Given the description of an element on the screen output the (x, y) to click on. 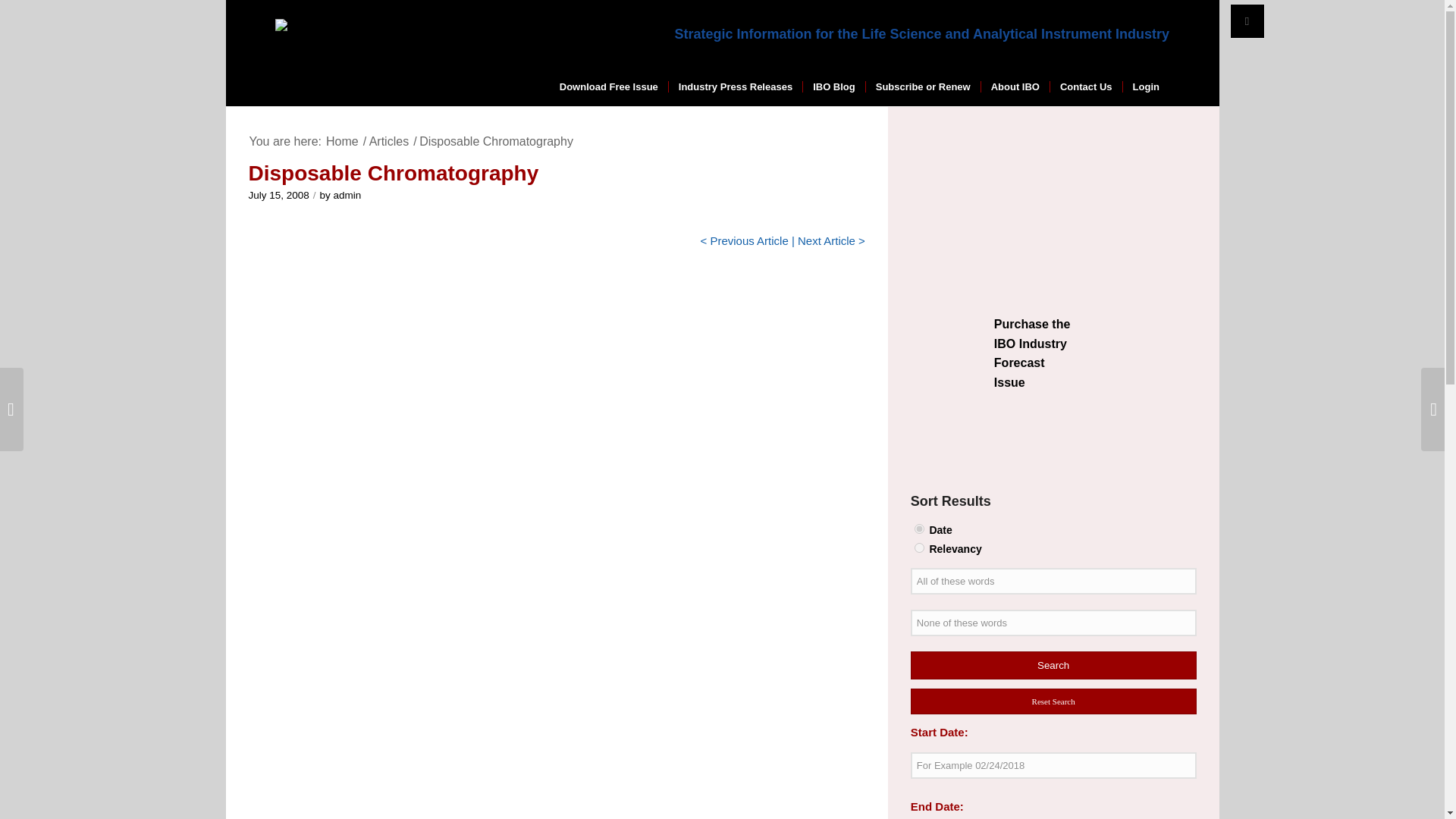
admin (347, 194)
Articles (388, 141)
IBO (342, 141)
Previous Article (748, 240)
Articles (388, 141)
Industry Press Releases (735, 86)
IBO Blog (833, 86)
relevancy (919, 547)
date (919, 528)
date (919, 528)
Posts by admin (347, 194)
Subscribe or Renew (921, 86)
Next Article (826, 240)
Download Free Issue (609, 86)
relevancy (919, 547)
